Given the description of an element on the screen output the (x, y) to click on. 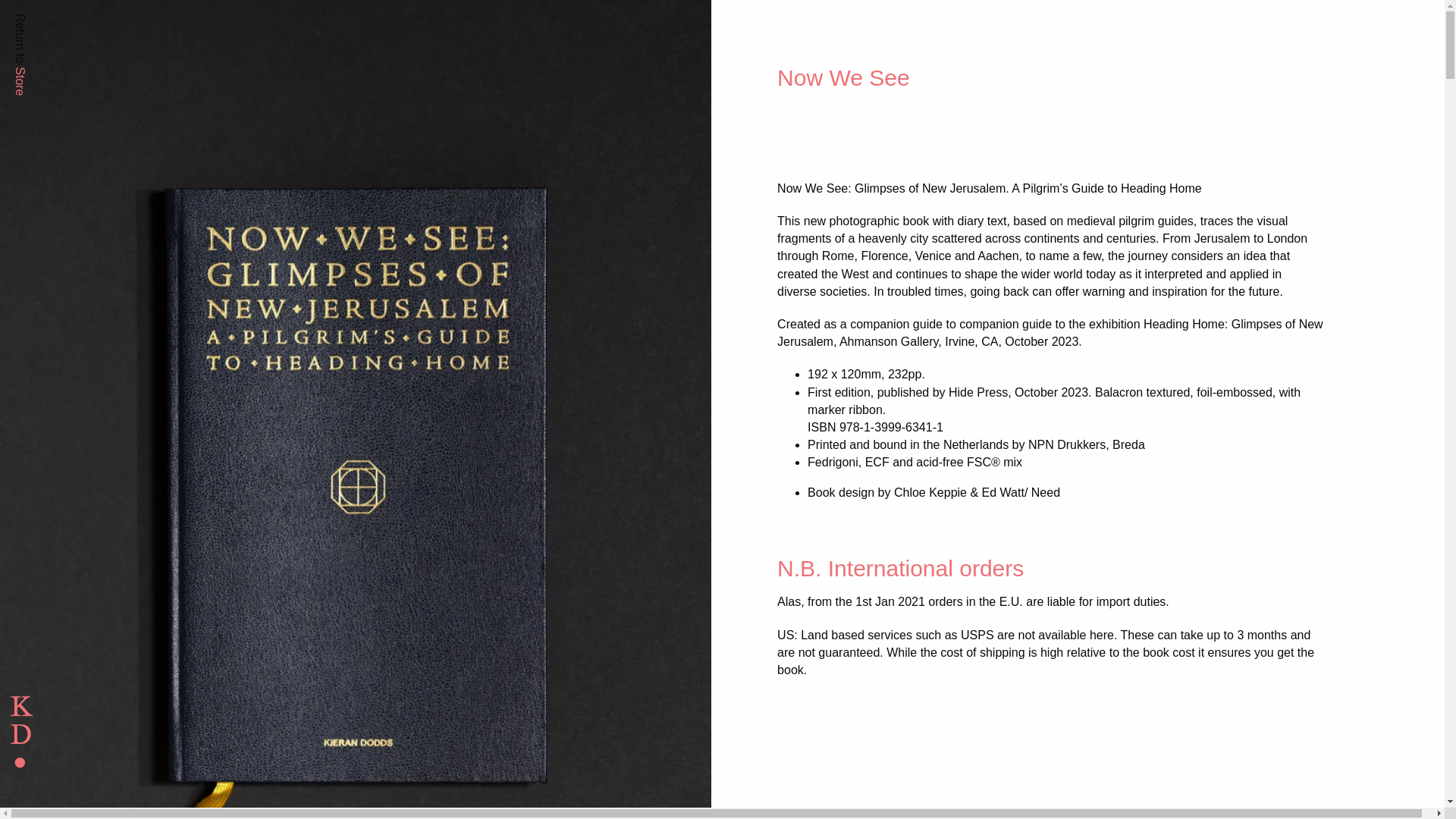
Store (27, 72)
Created with Snap (181, 738)
Page 3 (1065, 492)
